Given the description of an element on the screen output the (x, y) to click on. 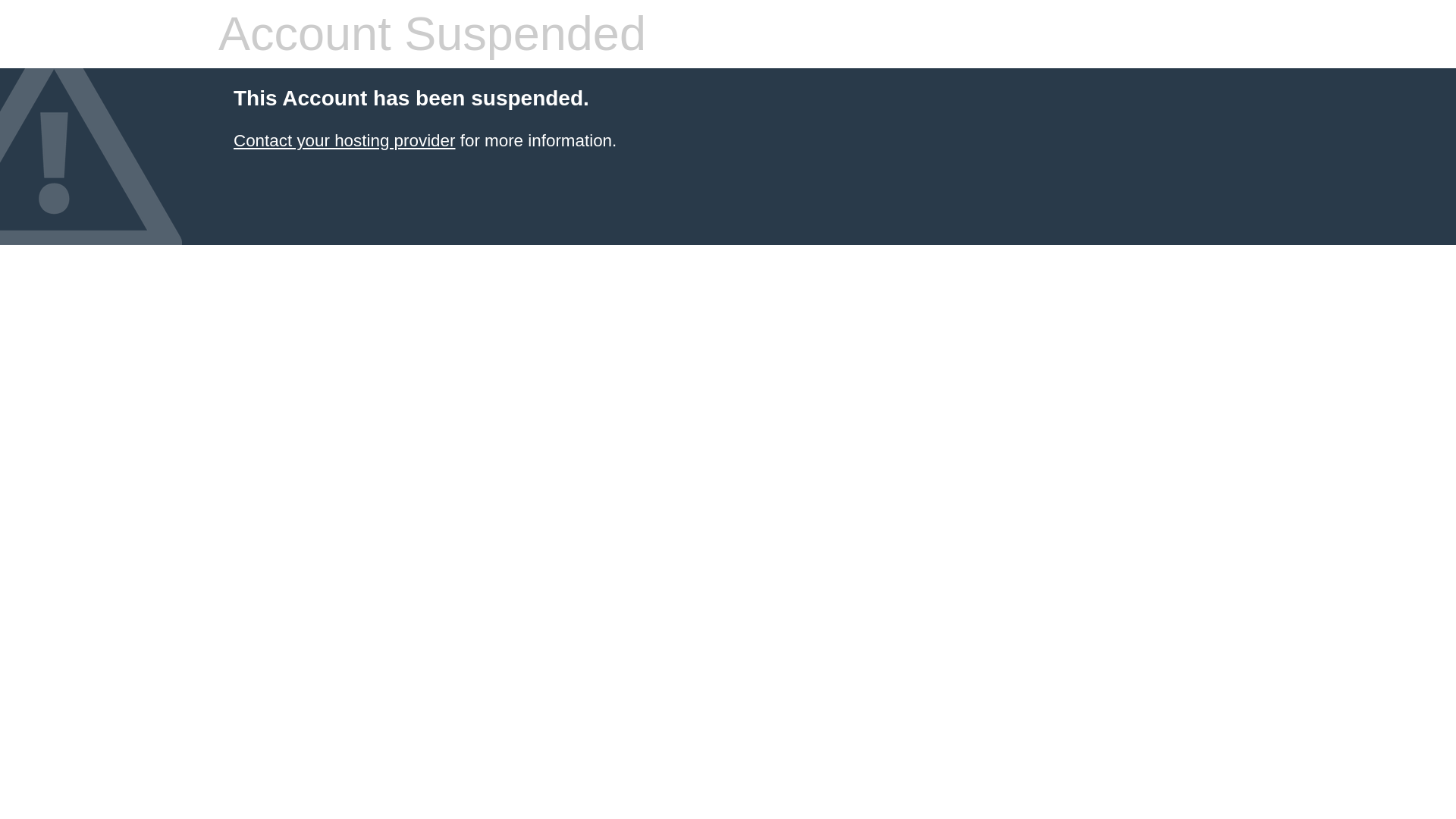
Contact your hosting provider (343, 140)
